Given the description of an element on the screen output the (x, y) to click on. 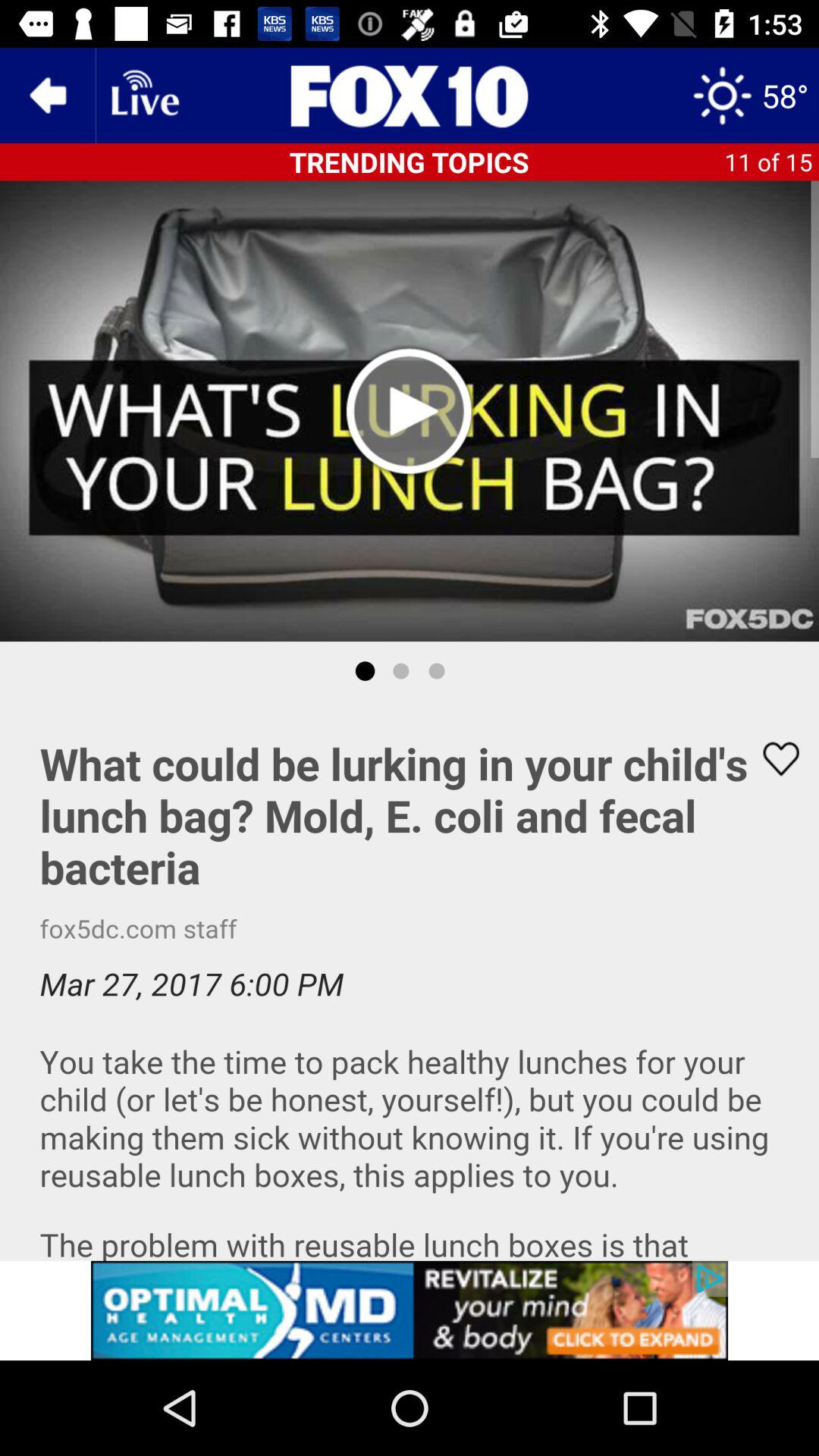
advertisement (409, 980)
